Given the description of an element on the screen output the (x, y) to click on. 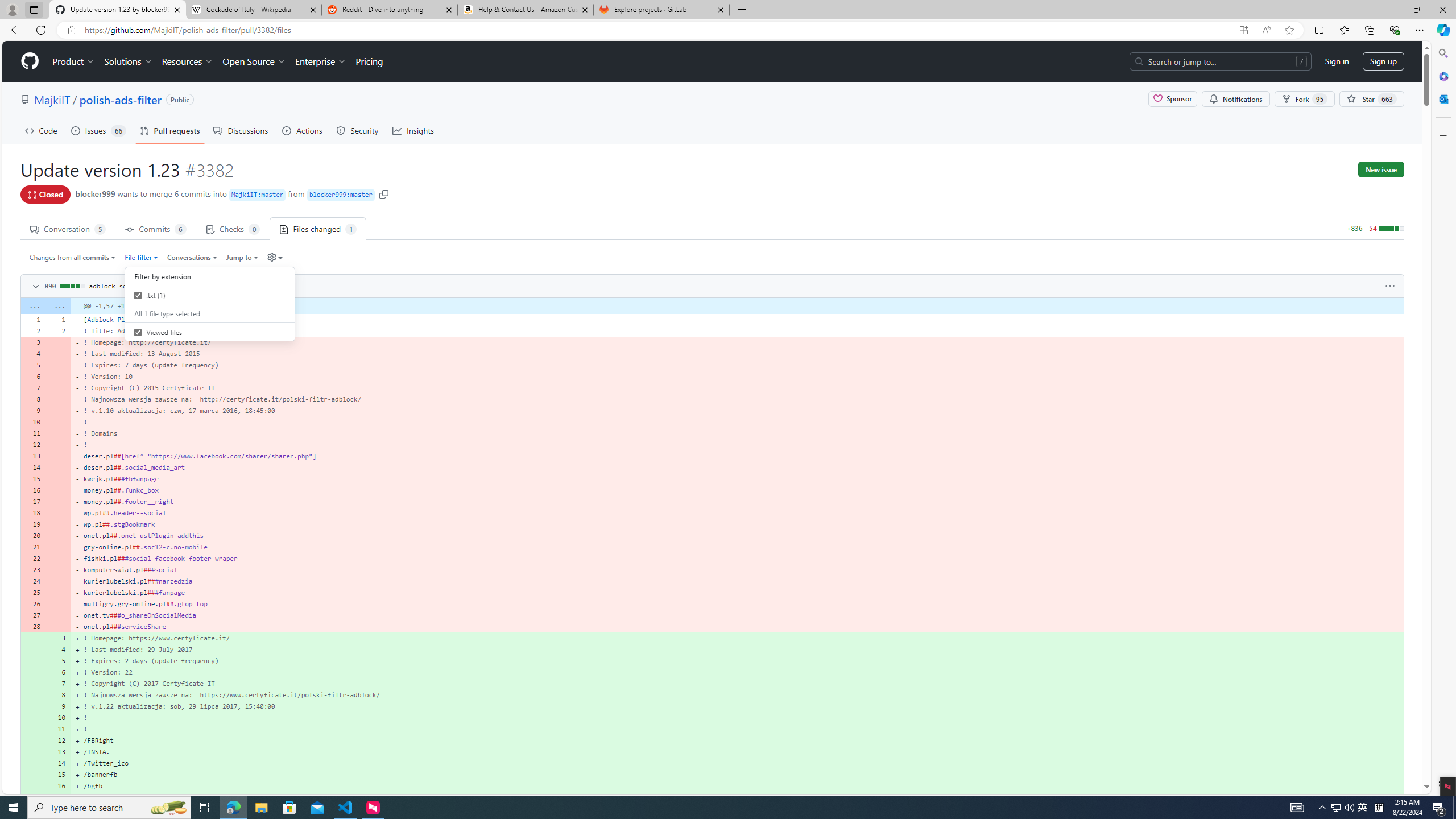
17 (58, 797)
28 (33, 626)
- ! Domains (737, 432)
Discussions (240, 130)
Pricing (368, 60)
7 (58, 683)
MajkiIT (51, 99)
blocker999 : master (340, 195)
Solutions (128, 60)
- wp.pl##.stgBookmark (737, 523)
